Given the description of an element on the screen output the (x, y) to click on. 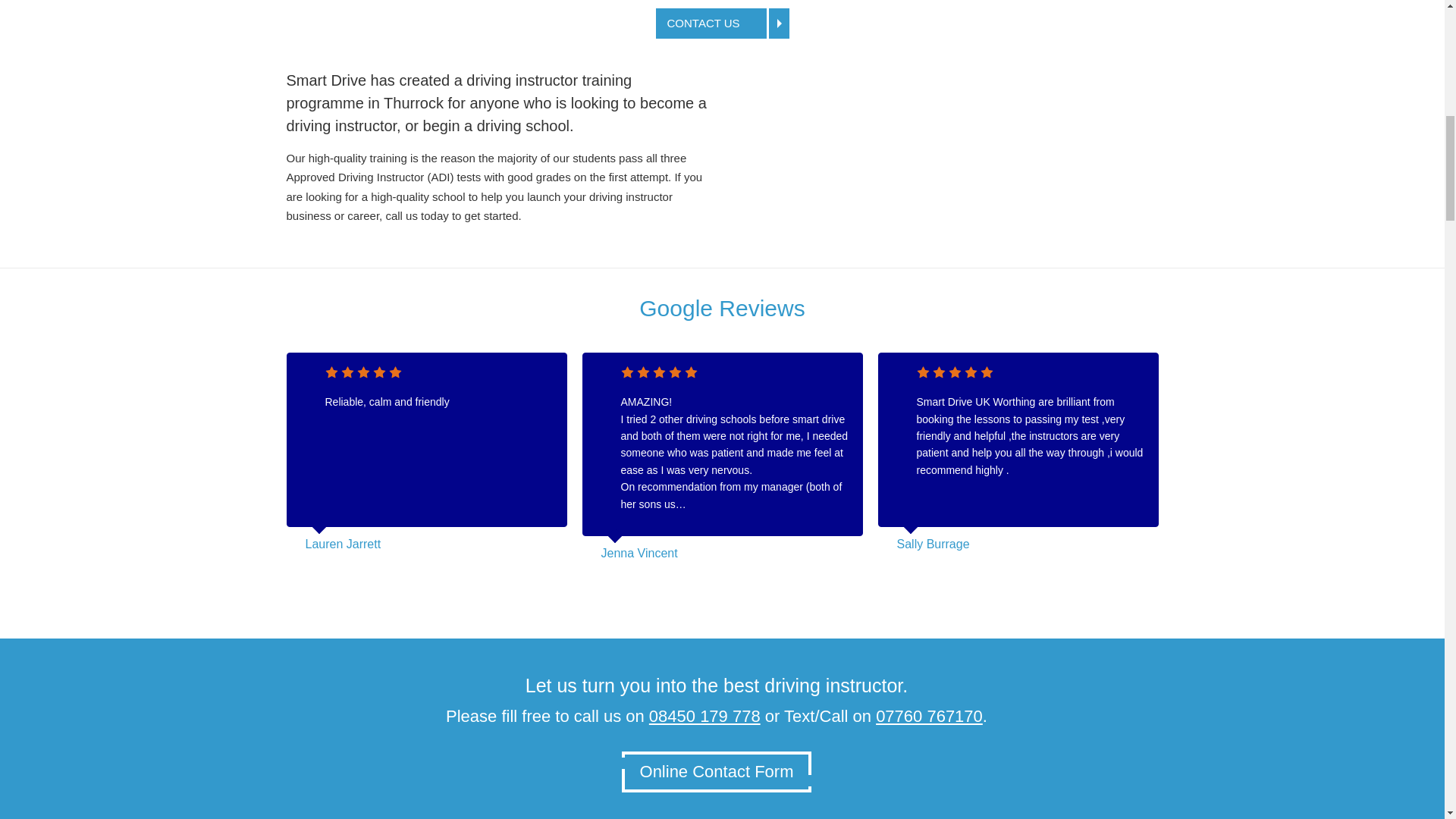
Jenna Vincent (638, 553)
Lauren Jarrett (342, 543)
Sally Burrage (932, 543)
CONTACT US (722, 23)
